Given the description of an element on the screen output the (x, y) to click on. 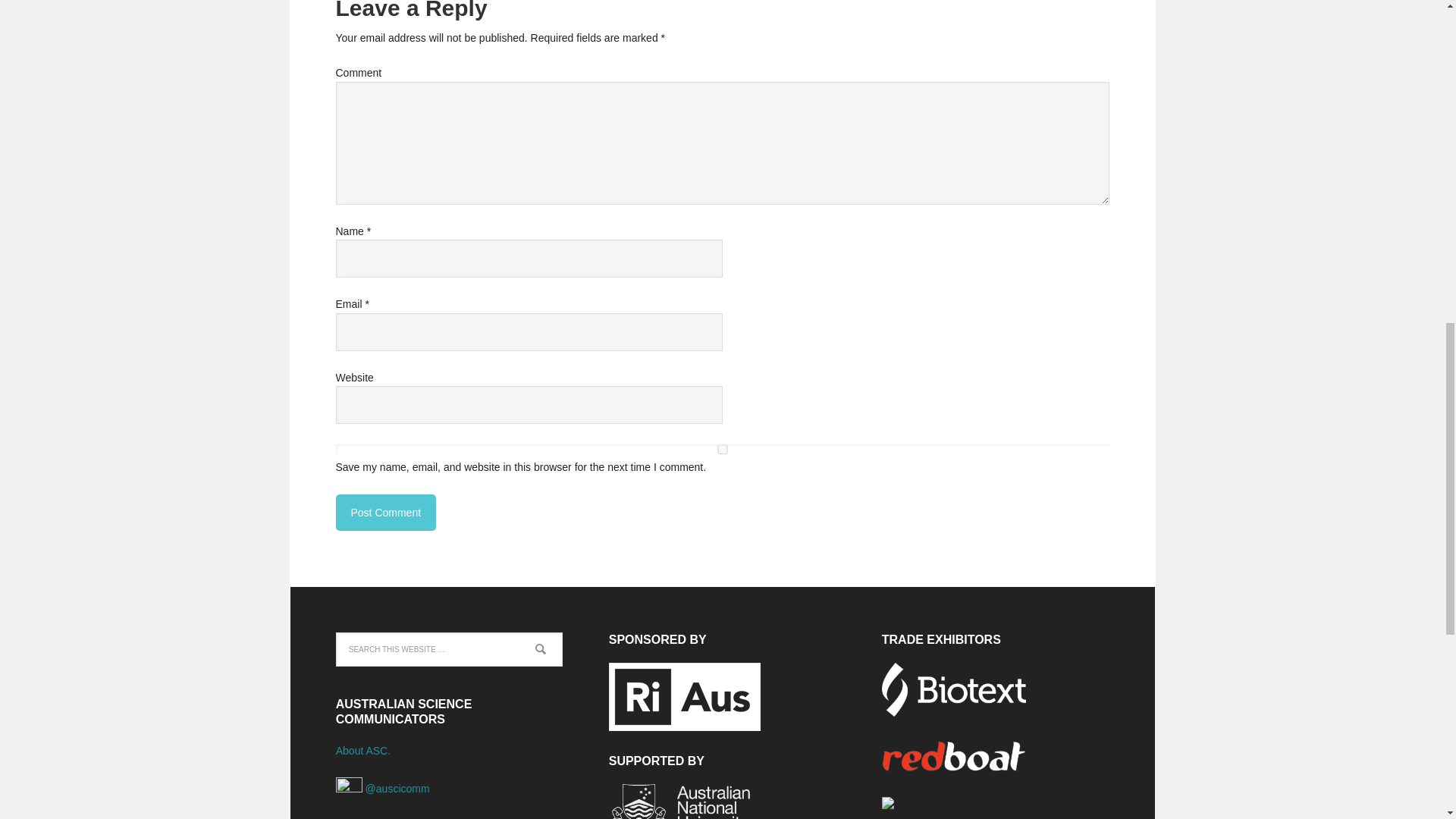
yes (721, 449)
Post Comment (384, 512)
Post Comment (384, 512)
About ASC. (363, 750)
